Given the description of an element on the screen output the (x, y) to click on. 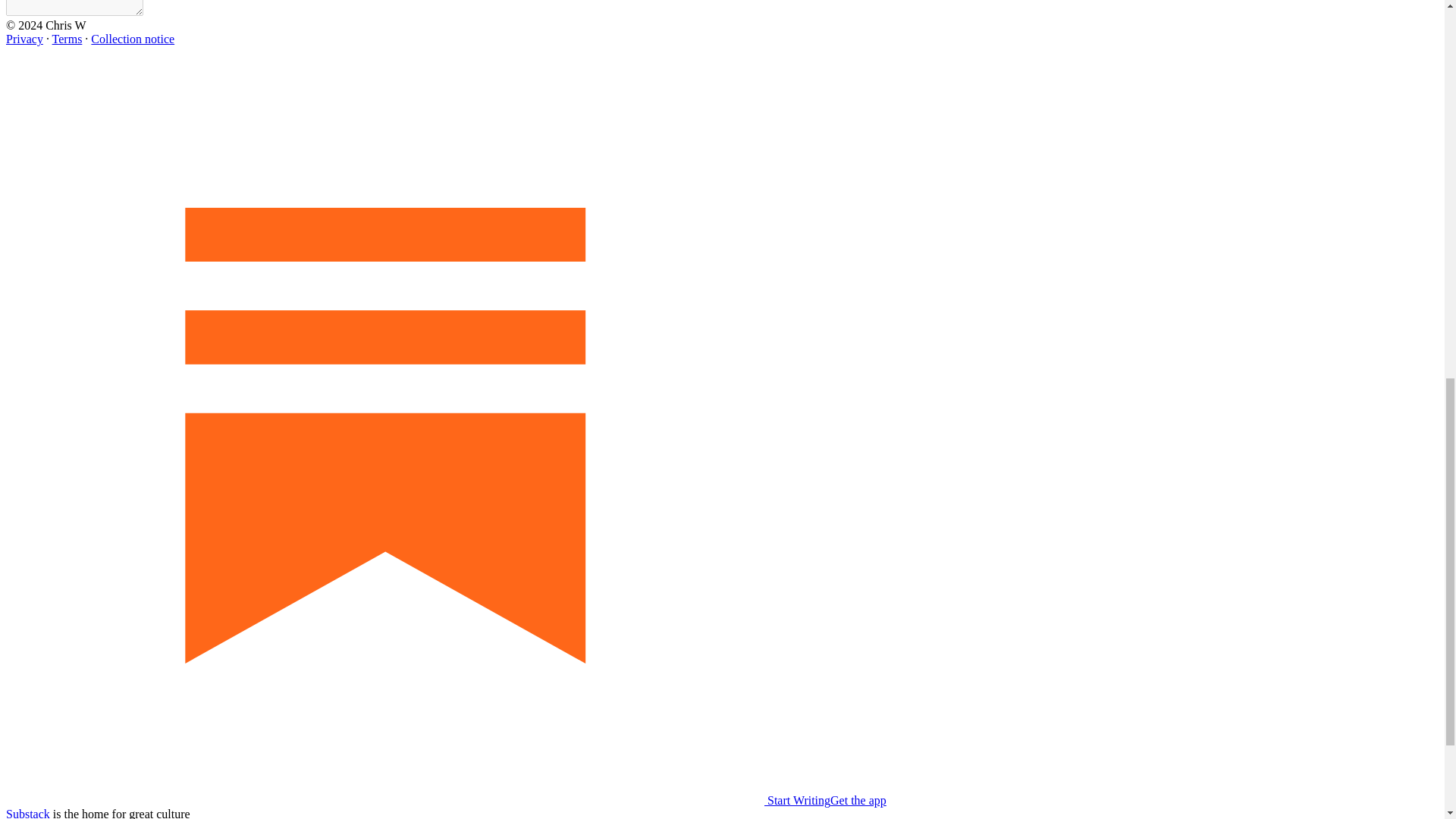
Terms (67, 38)
Substack (27, 813)
Start Writing (417, 799)
Collection notice (132, 38)
Privacy (24, 38)
Get the app (857, 799)
